Given the description of an element on the screen output the (x, y) to click on. 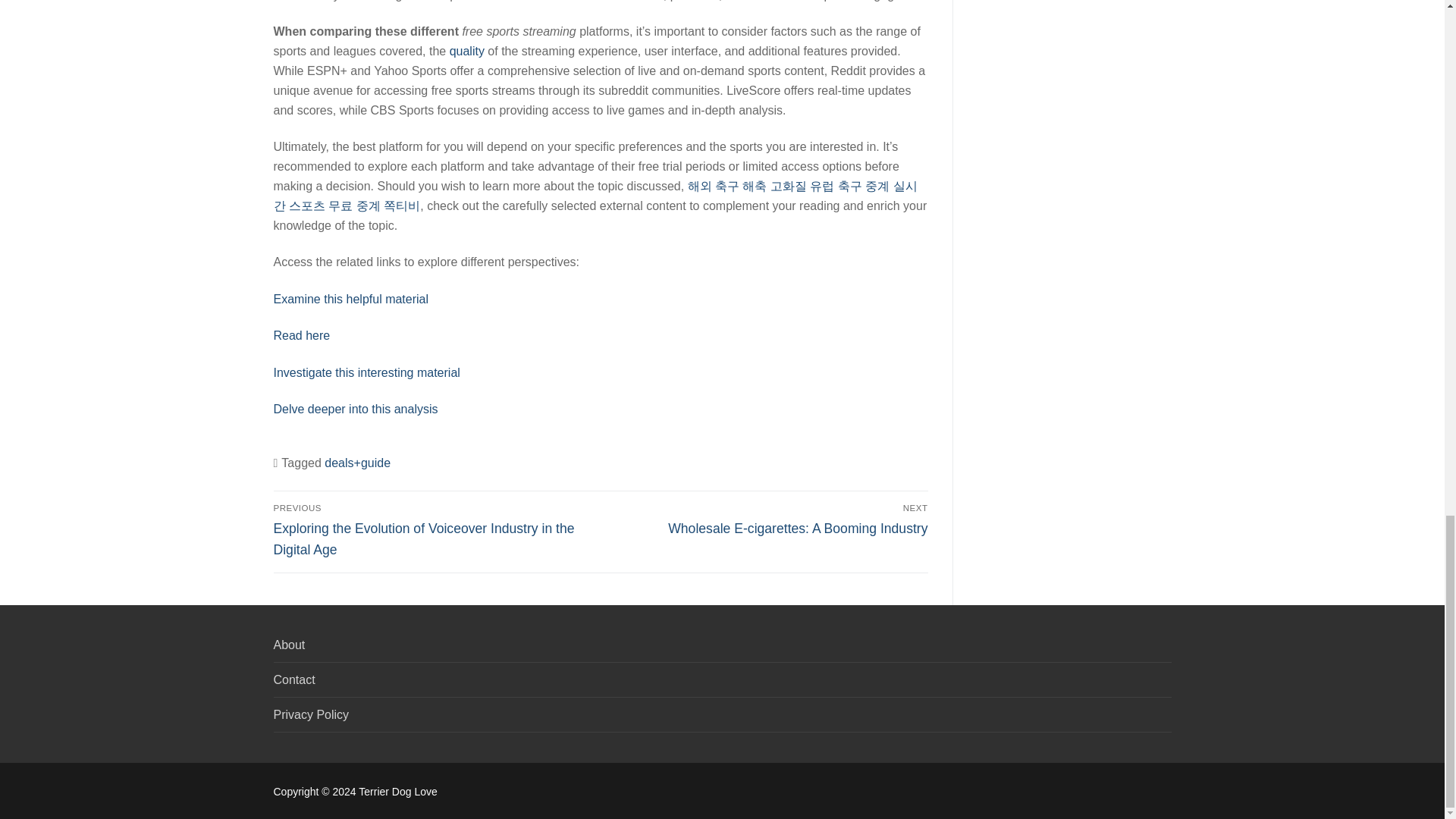
Examine this helpful material (350, 298)
Investigate this interesting material (366, 372)
quality (466, 51)
Delve deeper into this analysis (355, 408)
Read here (767, 519)
About (301, 335)
